Given the description of an element on the screen output the (x, y) to click on. 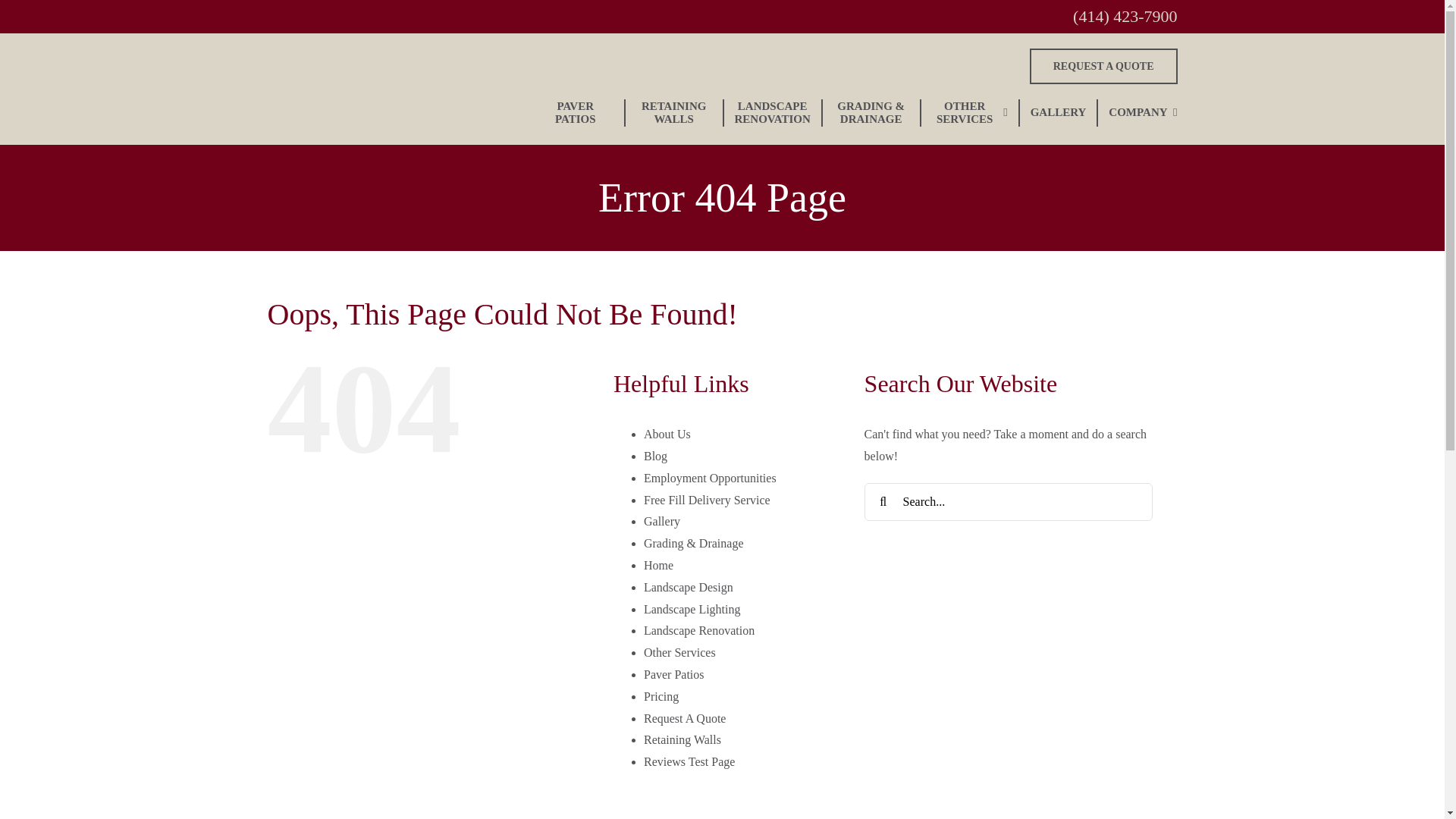
Landscape Renovation (698, 630)
Retaining Walls (681, 739)
Blog (654, 455)
PAVER PATIOS (574, 112)
Free Fill Delivery Service (706, 499)
Landscape Lighting (692, 608)
RETAINING WALLS (673, 112)
Gallery (661, 521)
Paver Patios (673, 674)
Other Services (679, 652)
